Given the description of an element on the screen output the (x, y) to click on. 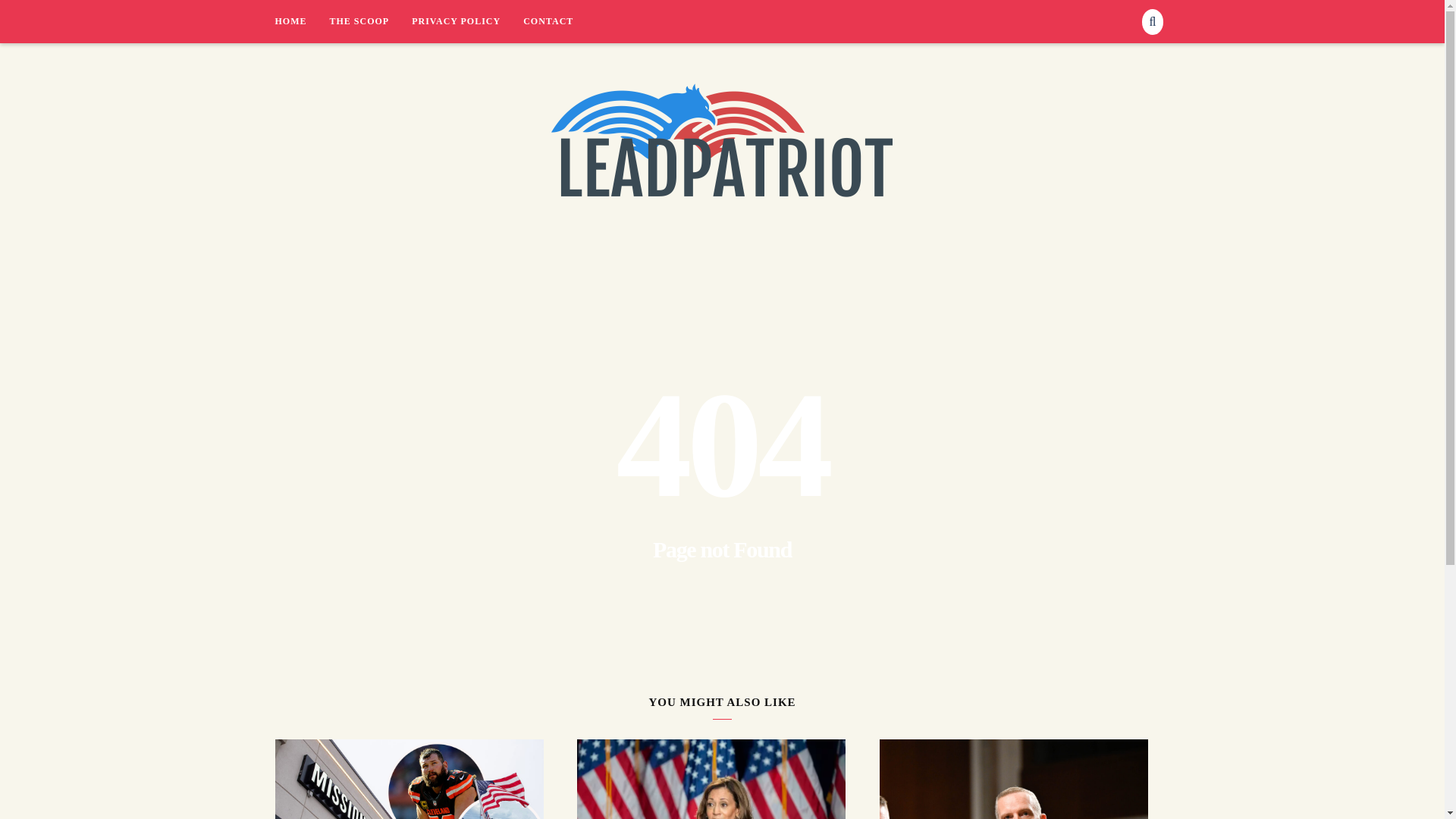
CONTACT (547, 21)
LEAD PATRIOT (350, 232)
THE SCOOP (370, 21)
HOME (302, 21)
PRIVACY POLICY (467, 21)
